Given the description of an element on the screen output the (x, y) to click on. 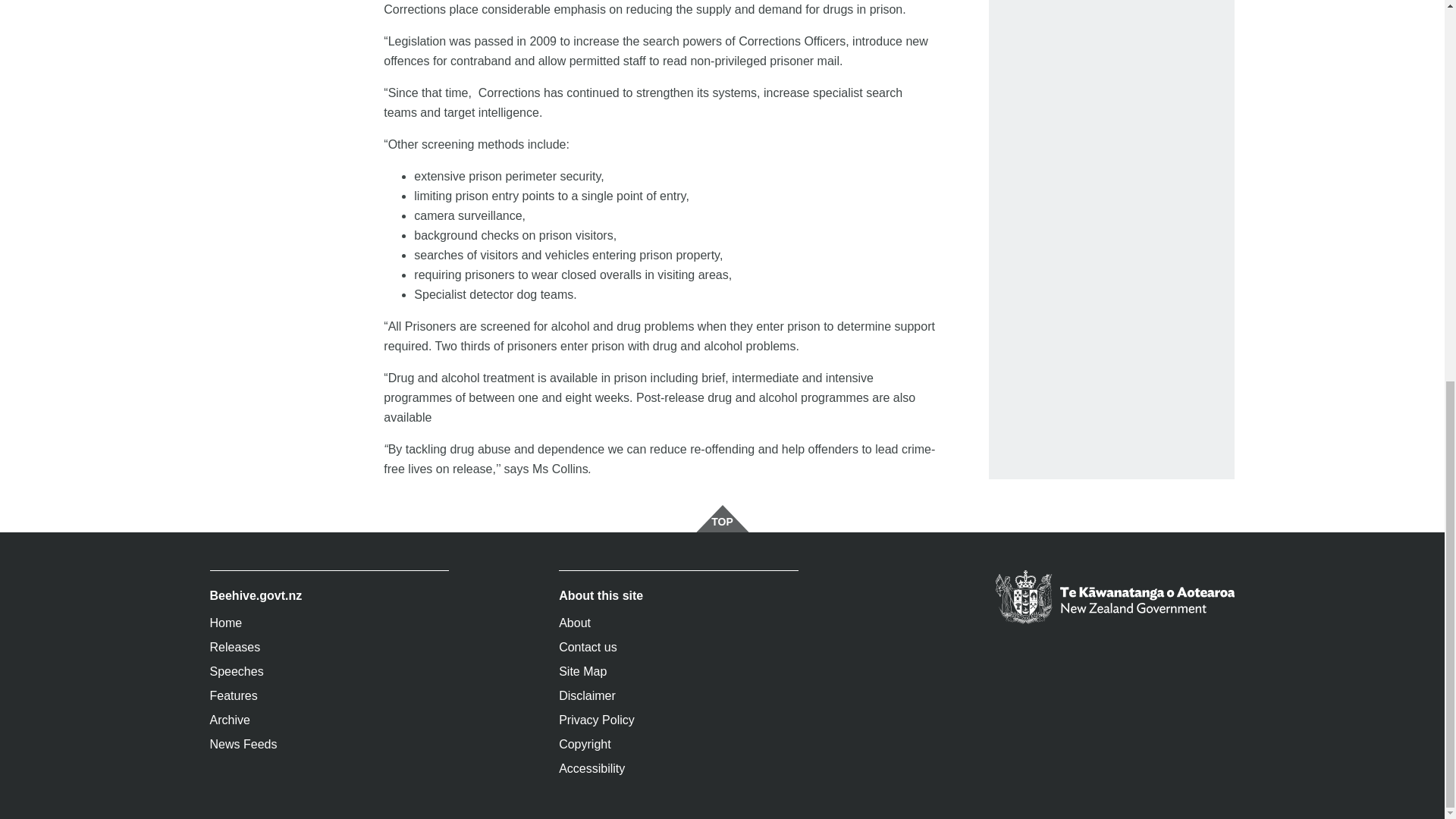
Copyright (678, 744)
News Feeds (328, 744)
Home (328, 622)
Features (328, 695)
Contact us (678, 647)
Speeches (328, 671)
Releases (328, 647)
Archive (328, 720)
Disclaimer (678, 695)
Privacy Policy (678, 720)
